Given the description of an element on the screen output the (x, y) to click on. 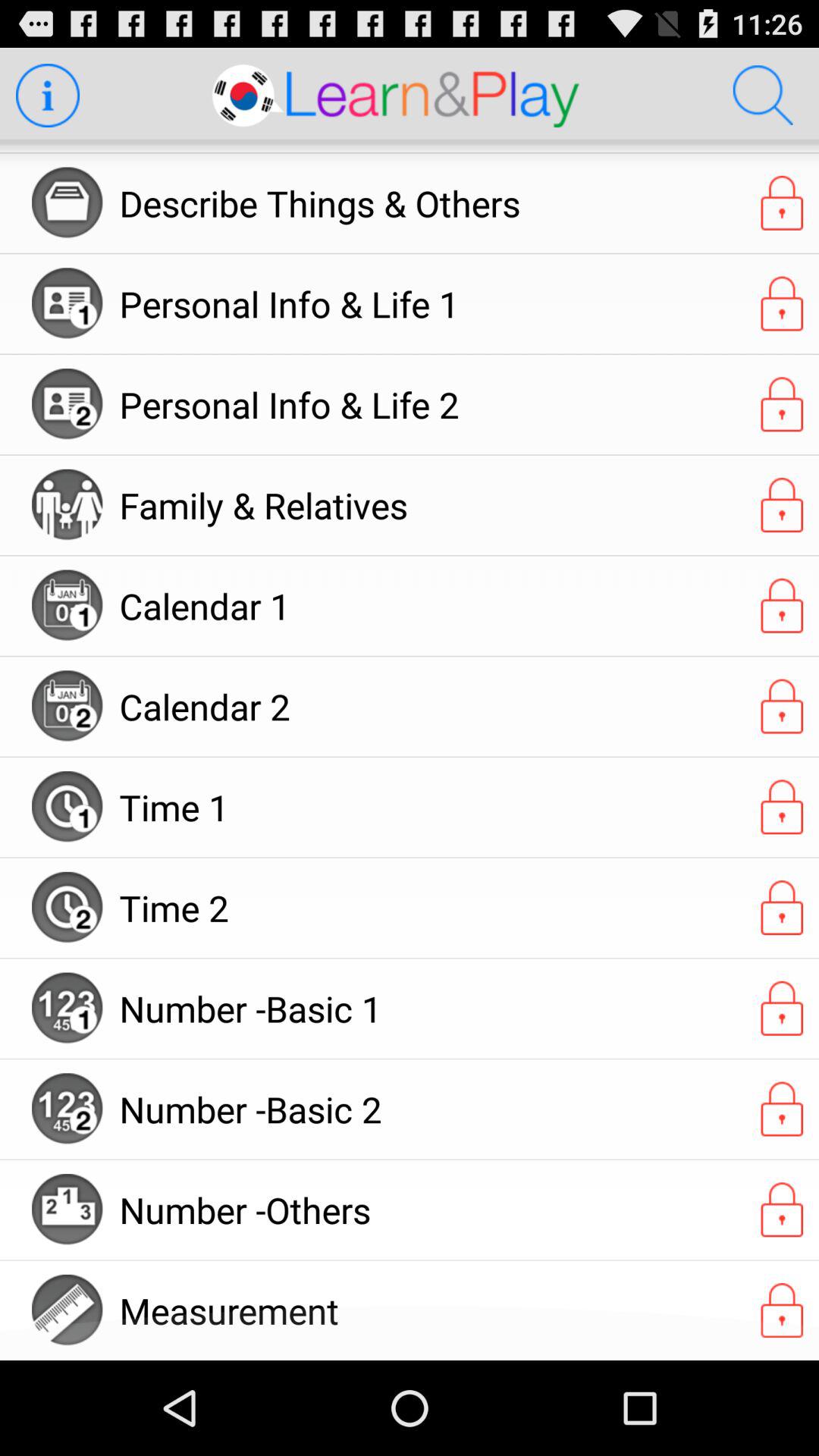
more information (47, 95)
